Given the description of an element on the screen output the (x, y) to click on. 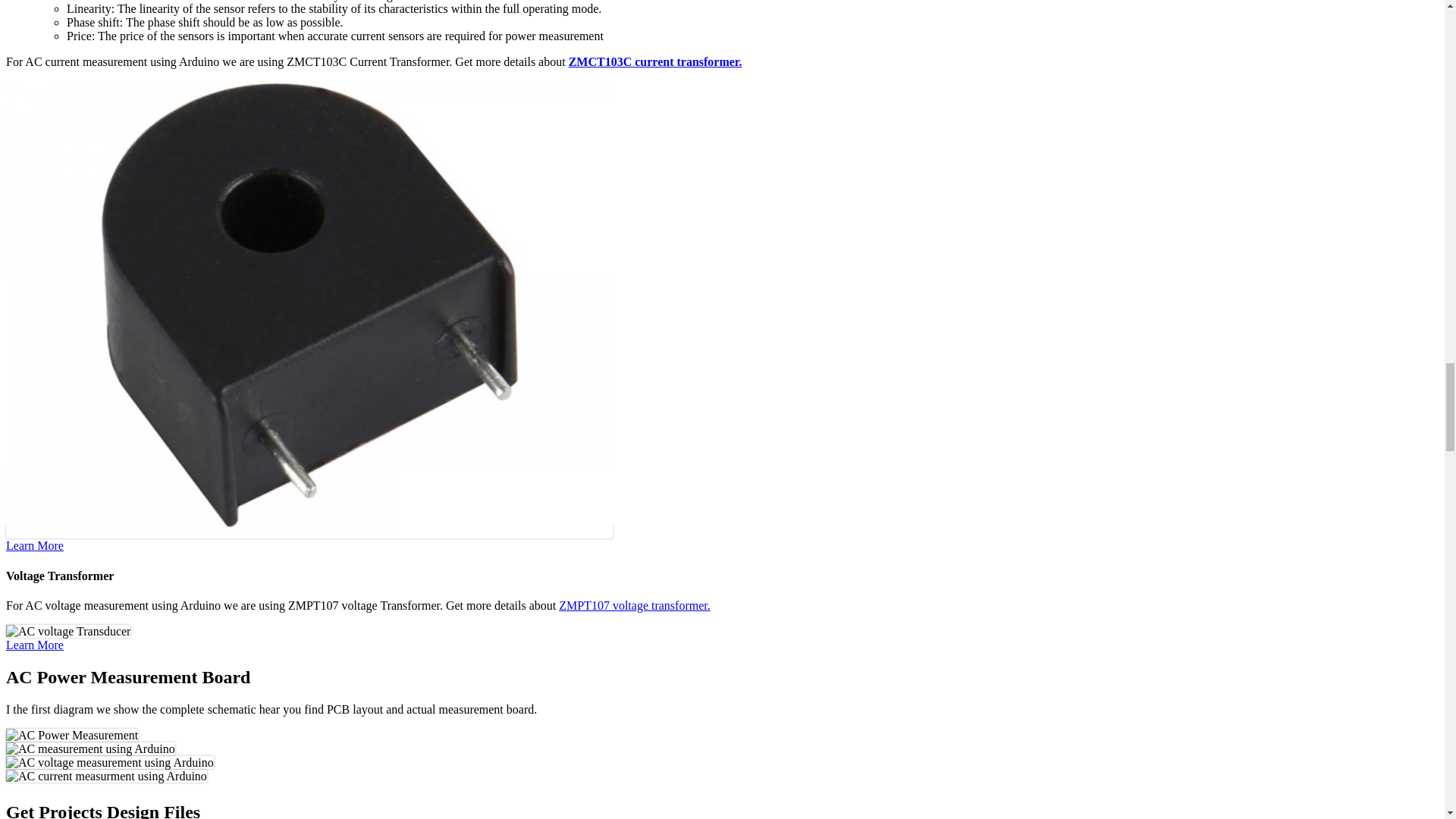
AC Power Measurement (71, 735)
AC voltage measurement using Arduino (109, 762)
AC current measurment using Arduino (105, 775)
AC voltage Sensor (68, 631)
AC measurement using Arduino (89, 748)
